Given the description of an element on the screen output the (x, y) to click on. 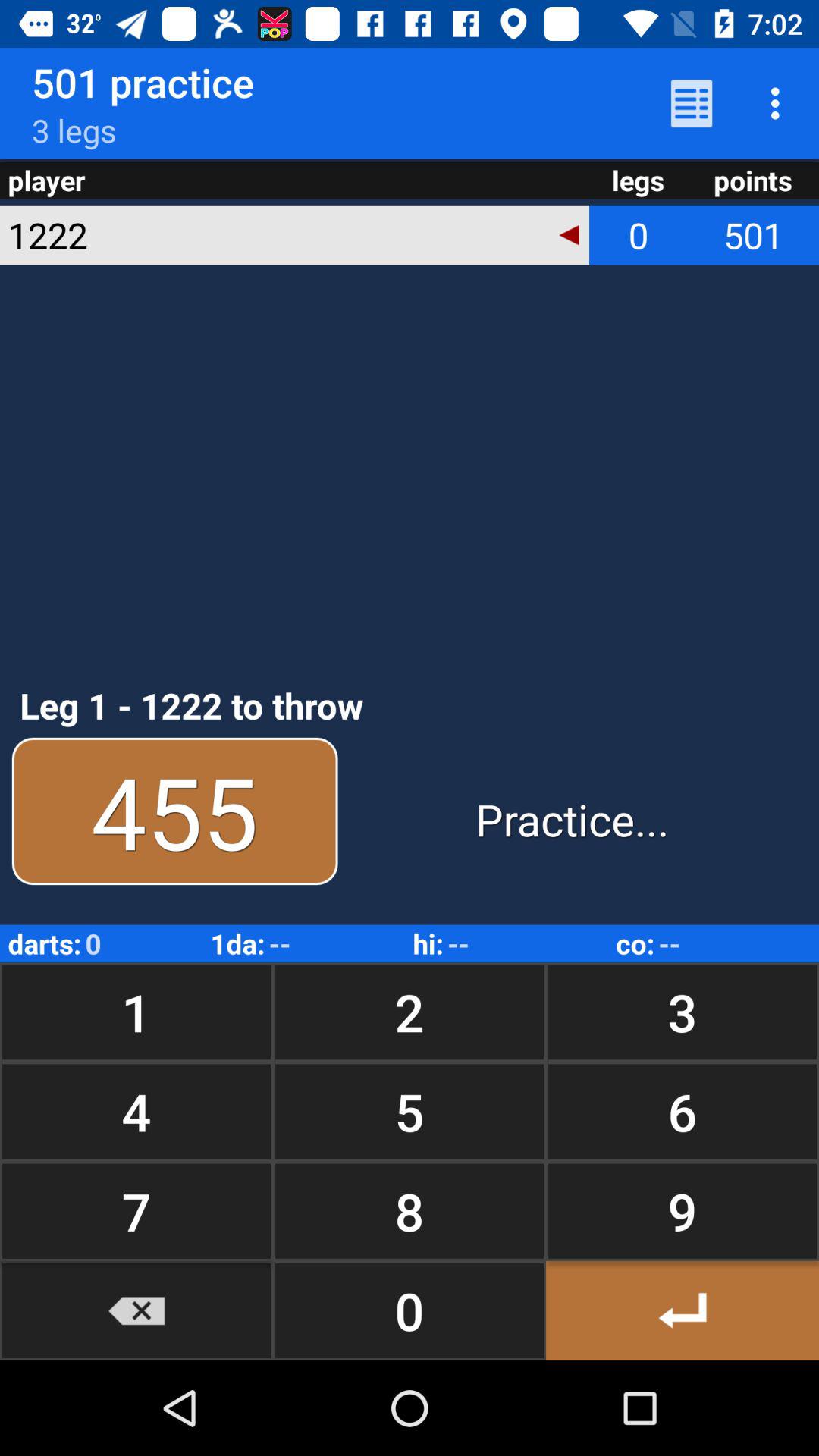
click the button to the left of 3 icon (409, 1011)
